Given the description of an element on the screen output the (x, y) to click on. 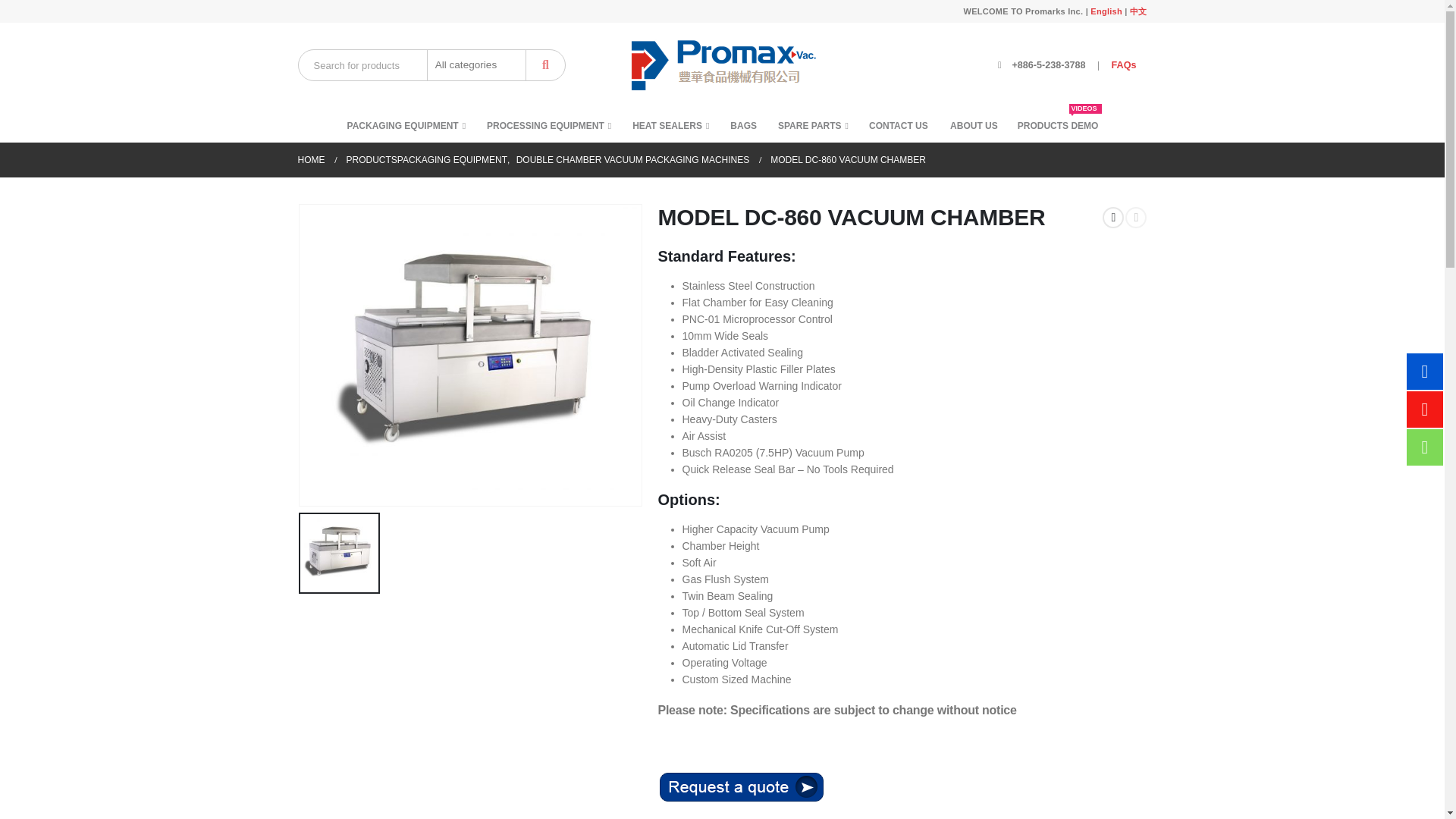
PACKAGING EQUIPMENT (406, 124)
Go to Home Page (310, 159)
Promarks - Demo Website (721, 64)
FAQs (1124, 64)
English (1106, 10)
MODEL-DC-860-VACUUM-CHAMBER (469, 355)
Search (545, 64)
